Given the description of an element on the screen output the (x, y) to click on. 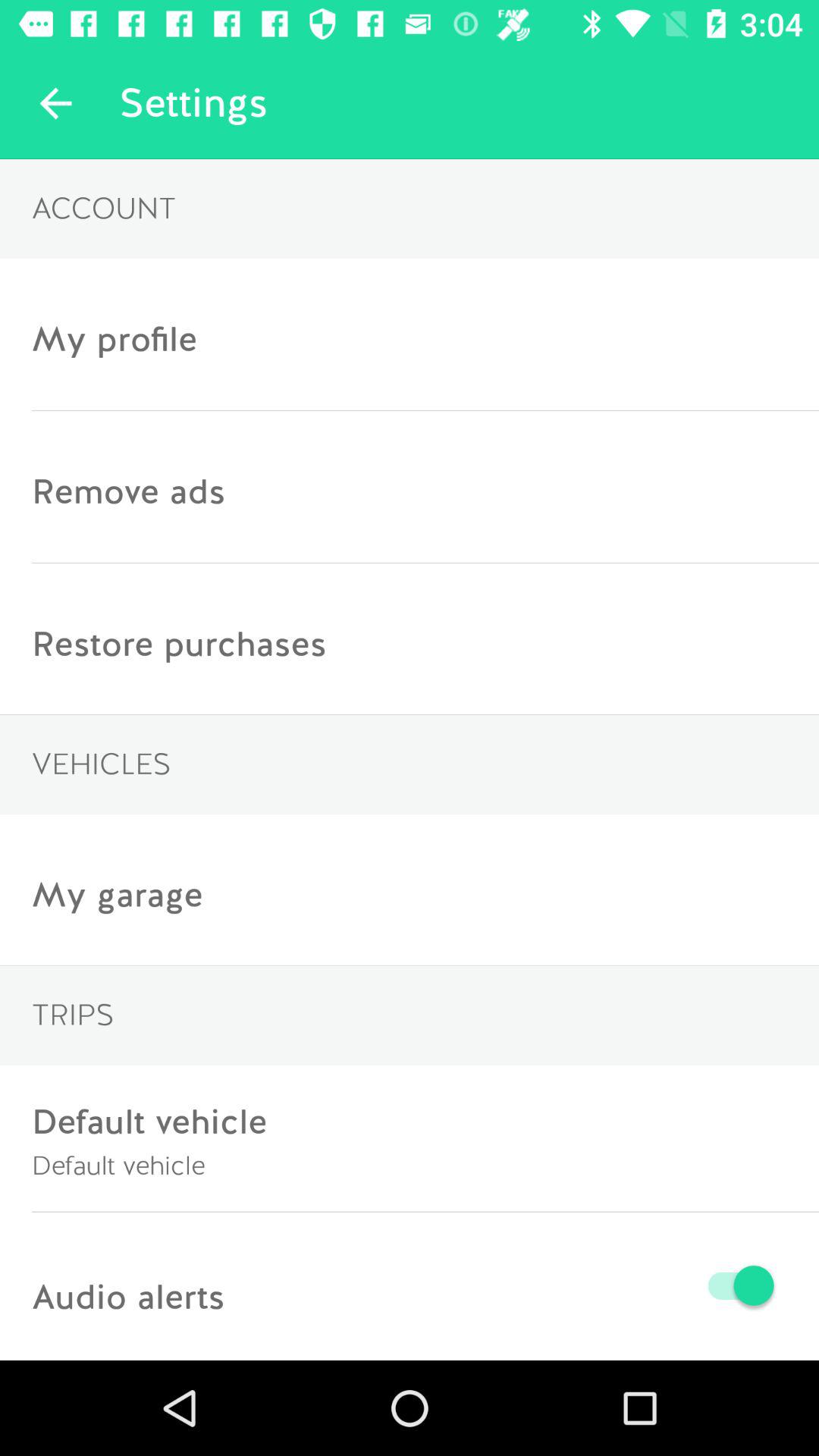
press icon to the right of the audio alerts item (502, 1285)
